Given the description of an element on the screen output the (x, y) to click on. 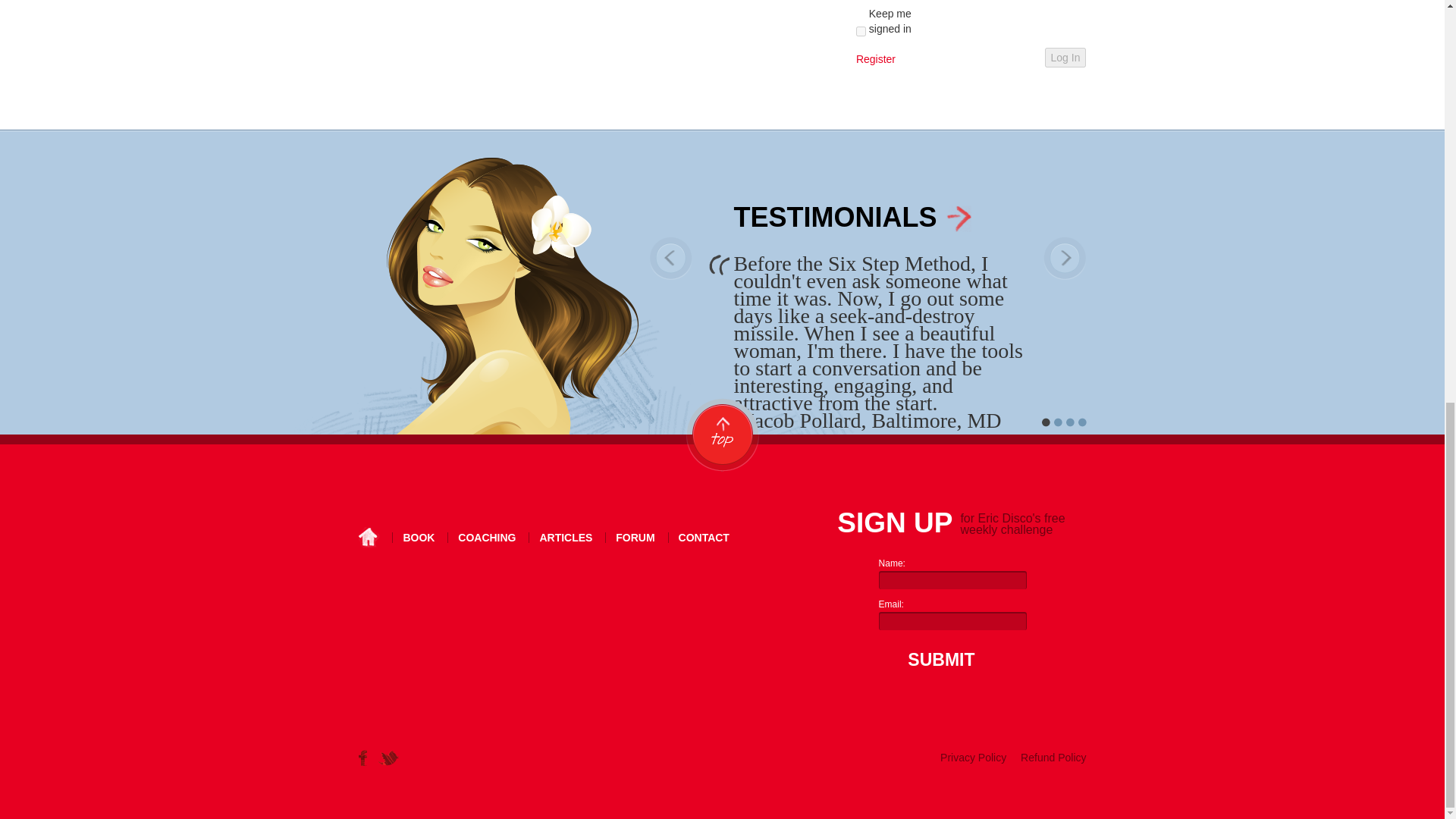
Submit (936, 659)
Register (875, 58)
Log In (1065, 57)
Register (875, 58)
Submit (936, 659)
BOOK (418, 537)
ARTICLES (565, 537)
CONTACT (703, 537)
COACHING (486, 537)
